Given the description of an element on the screen output the (x, y) to click on. 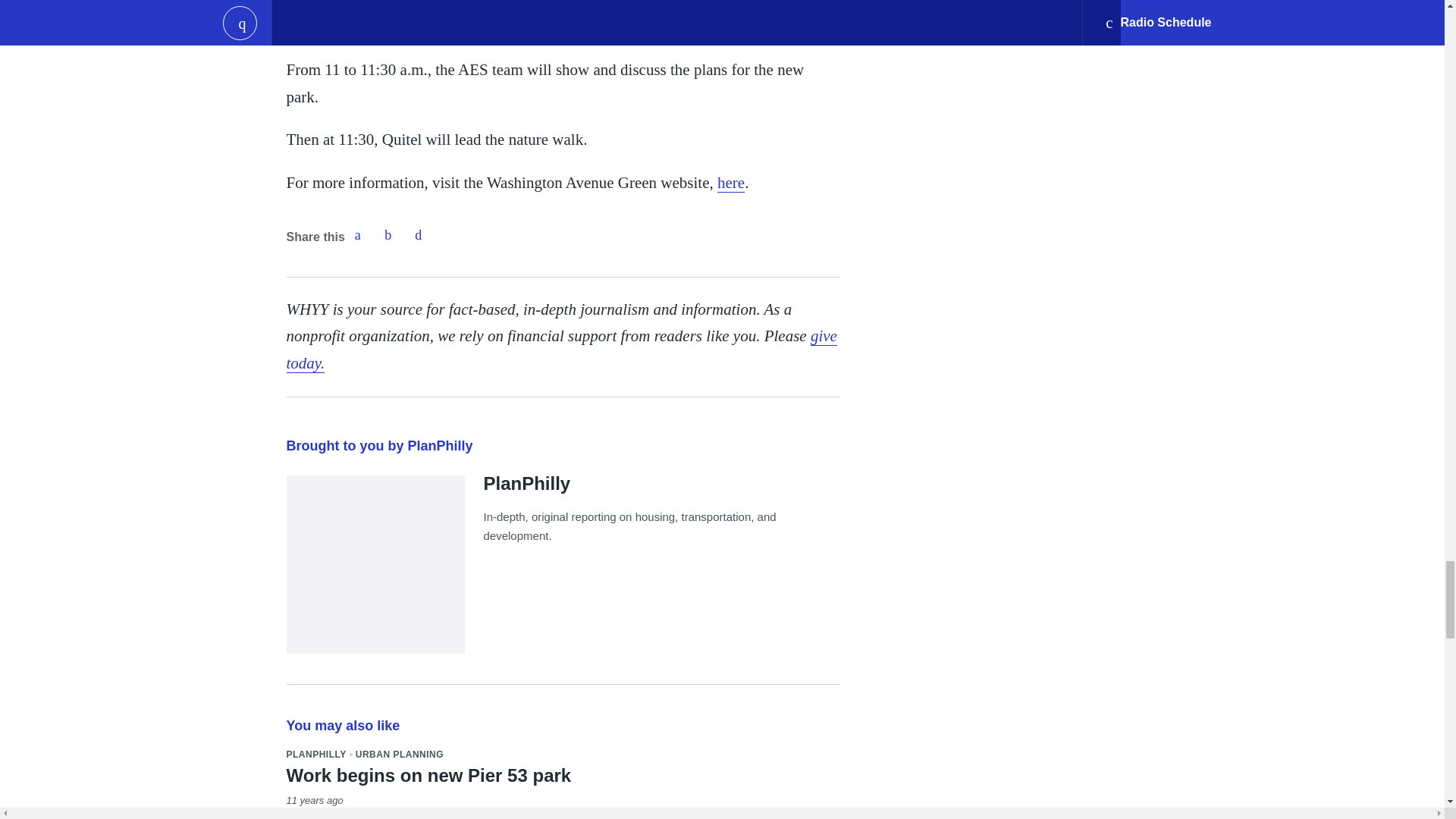
Facebook (357, 235)
Work begins on new Pier 53 park (429, 774)
Email (418, 235)
Twitter (387, 235)
